Given the description of an element on the screen output the (x, y) to click on. 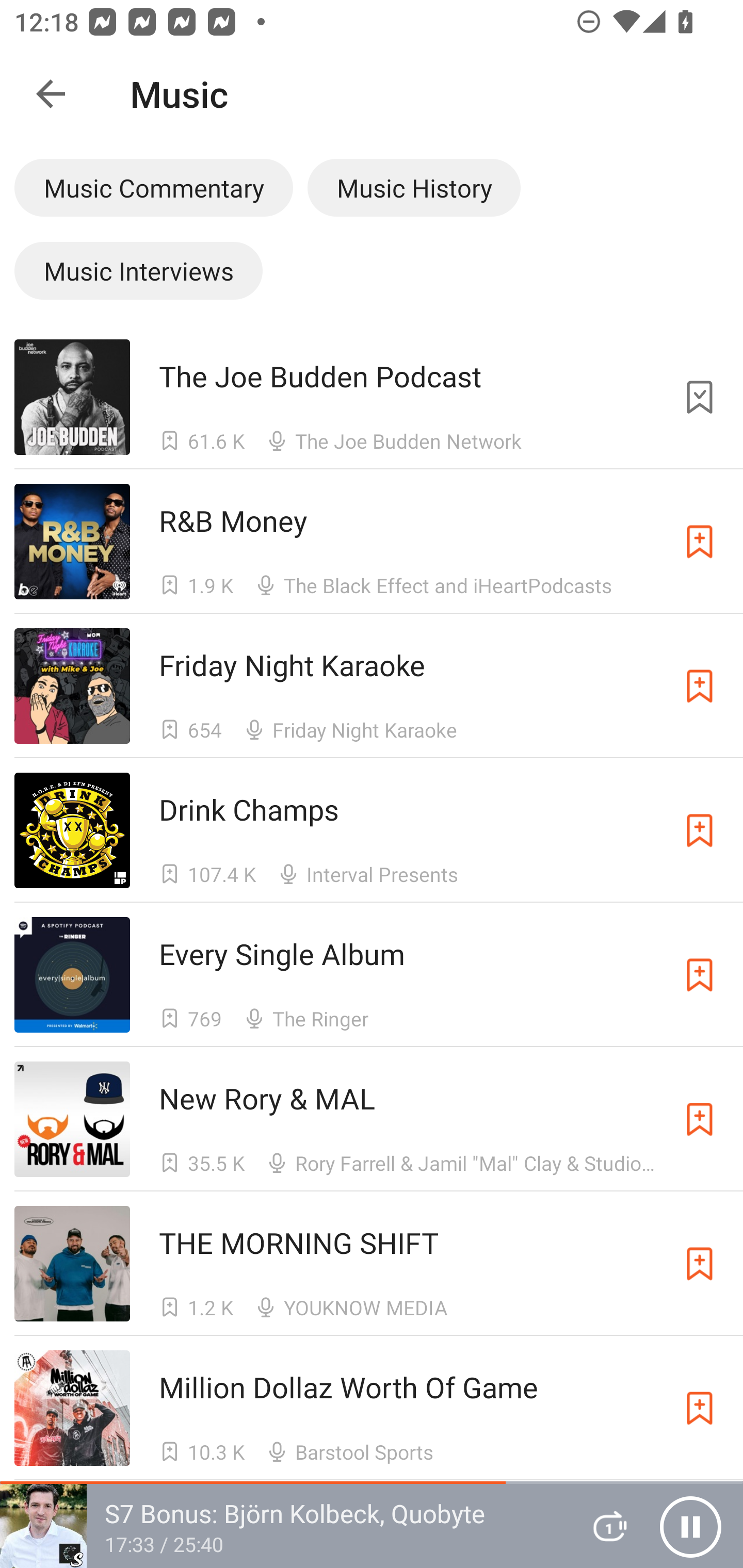
Navigate up (50, 93)
Music Commentary (153, 187)
Music History (413, 187)
Music Interviews (138, 270)
Unsubscribe (699, 396)
Subscribe (699, 541)
Subscribe (699, 685)
Subscribe (699, 830)
Subscribe (699, 975)
Subscribe (699, 1119)
Subscribe (699, 1263)
Subscribe (699, 1408)
S7 Bonus: Björn Kolbeck, Quobyte 17:33 / 25:40 (283, 1525)
Pause (690, 1526)
